Given the description of an element on the screen output the (x, y) to click on. 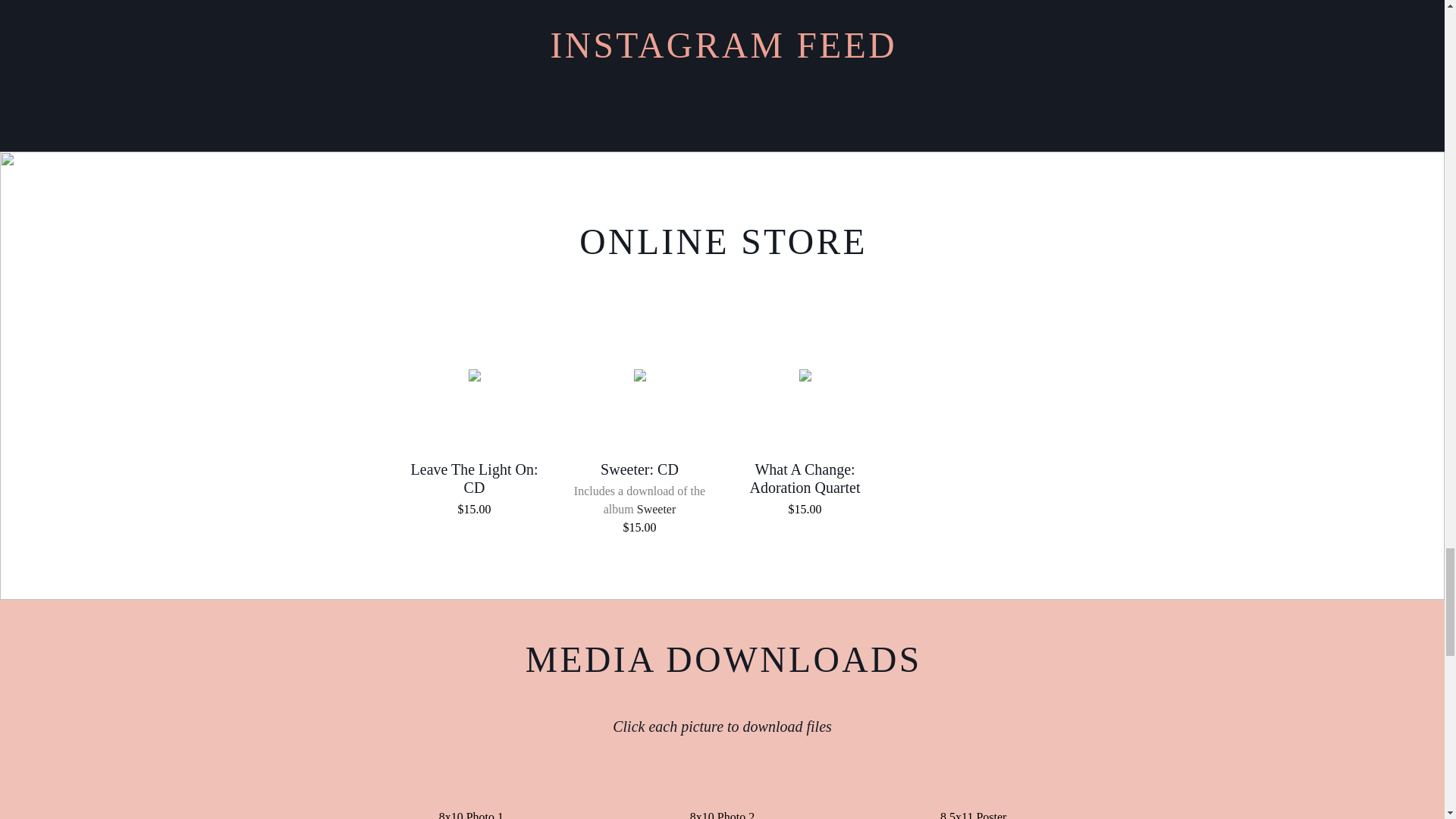
Sweeter: CD (639, 375)
What A Change: Adoration Quartet (804, 375)
Leave The Light On: CD (474, 375)
